Given the description of an element on the screen output the (x, y) to click on. 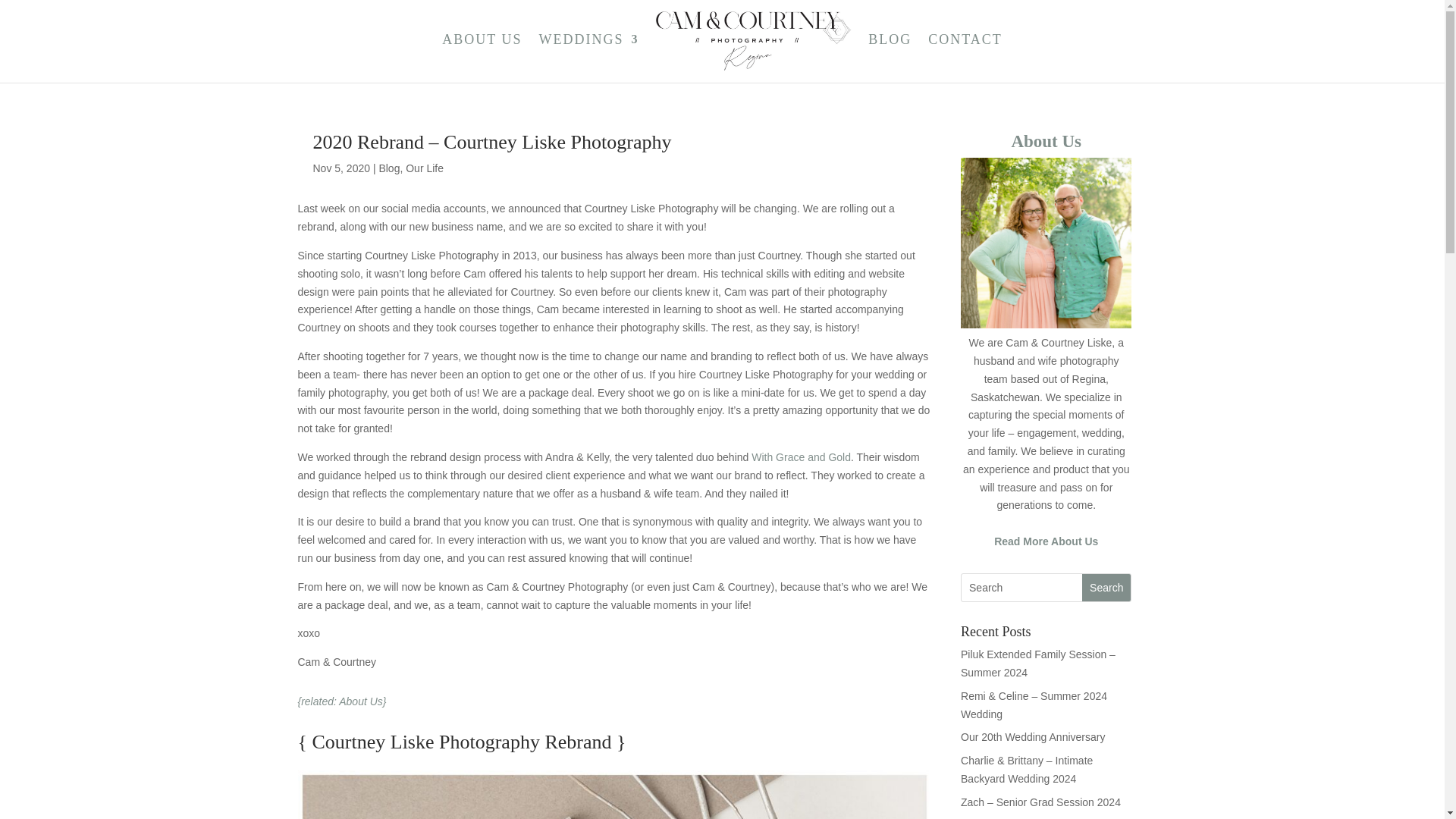
Search (1106, 587)
With Grace and Gold (800, 457)
ABOUT US (481, 54)
Blog (388, 168)
Search (1106, 587)
Our Life (425, 168)
CONTACT (965, 54)
BLOG (889, 54)
Our 20th Wedding Anniversary (1032, 736)
WEDDINGS (588, 54)
Read More About Us (1045, 541)
Search (1106, 587)
